Given the description of an element on the screen output the (x, y) to click on. 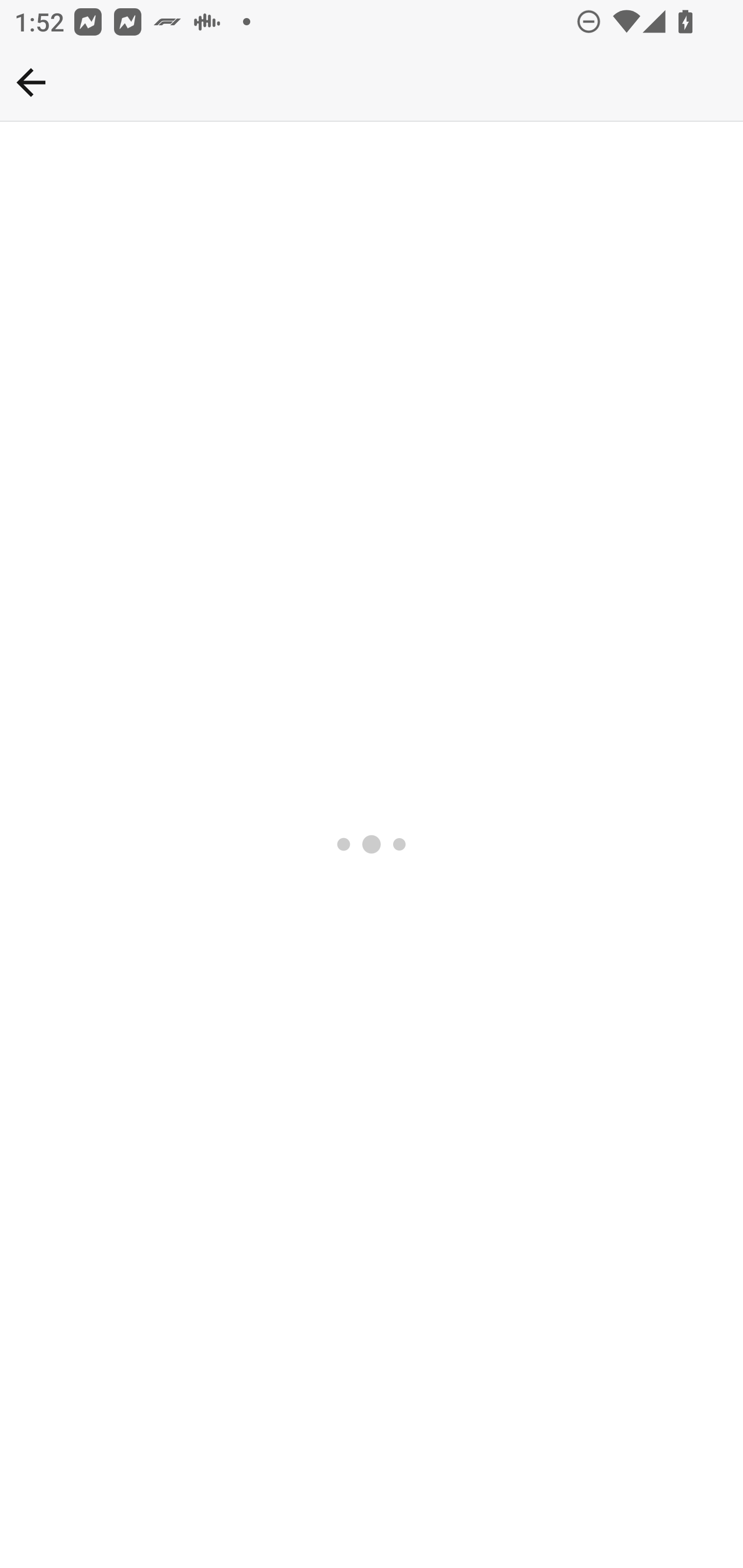
Back (371, 82)
Back (30, 82)
